Given the description of an element on the screen output the (x, y) to click on. 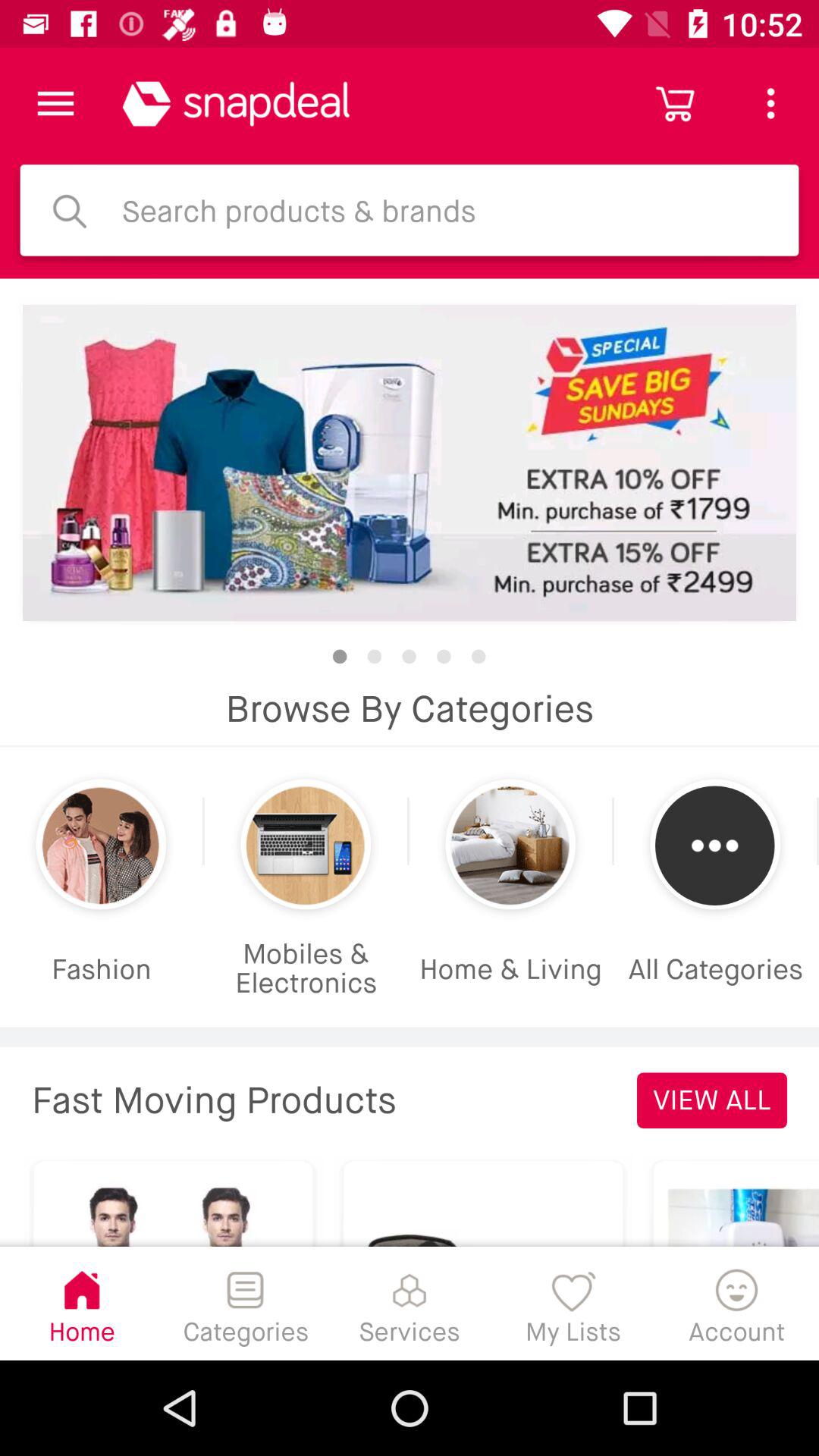
go to menu (55, 103)
